Given the description of an element on the screen output the (x, y) to click on. 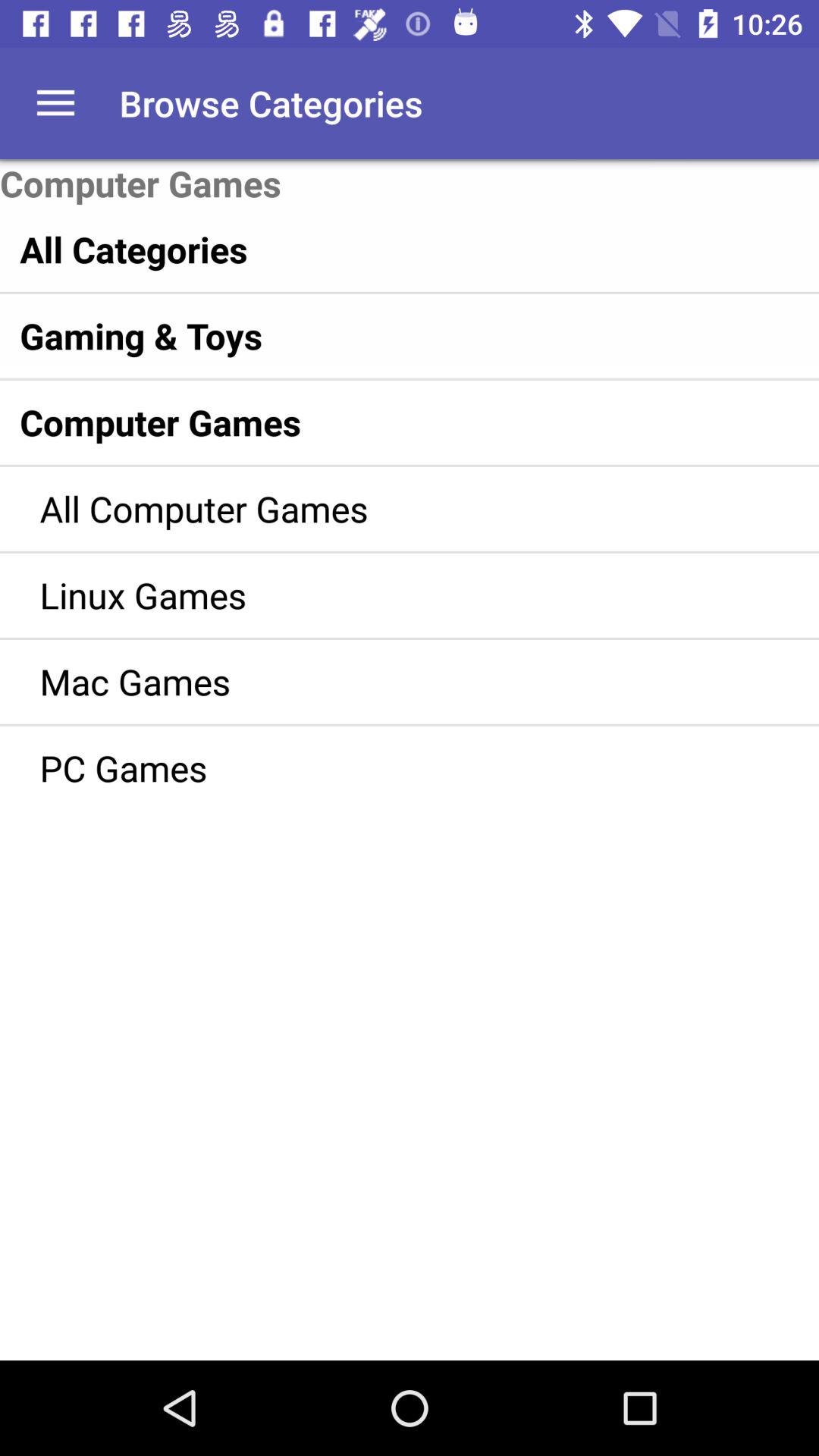
scroll until the all categories (377, 249)
